Given the description of an element on the screen output the (x, y) to click on. 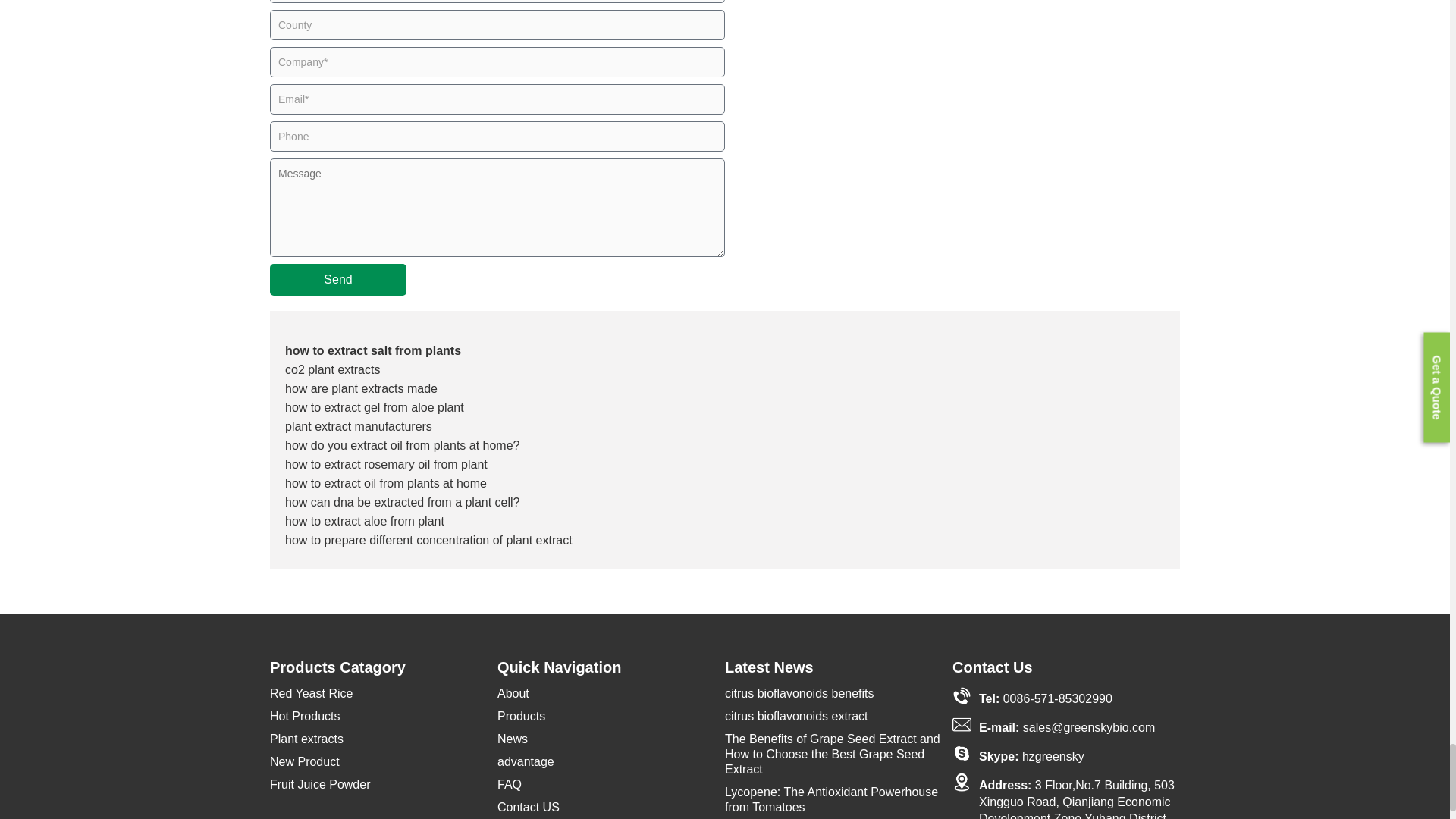
how to extract aloe from plant (364, 521)
how to extract oil from plants at home (385, 482)
how to extract rosemary oil from plant (386, 463)
how to extract gel from aloe plant (374, 407)
how to extract salt from plants (373, 350)
how can dna be extracted from a plant cell? (402, 502)
how do you extract oil from plants at home? (402, 445)
co2 plant extracts (332, 369)
plant extract manufacturers (358, 426)
how are plant extracts made (361, 388)
how to prepare different concentration of plant extract (428, 540)
